Given the description of an element on the screen output the (x, y) to click on. 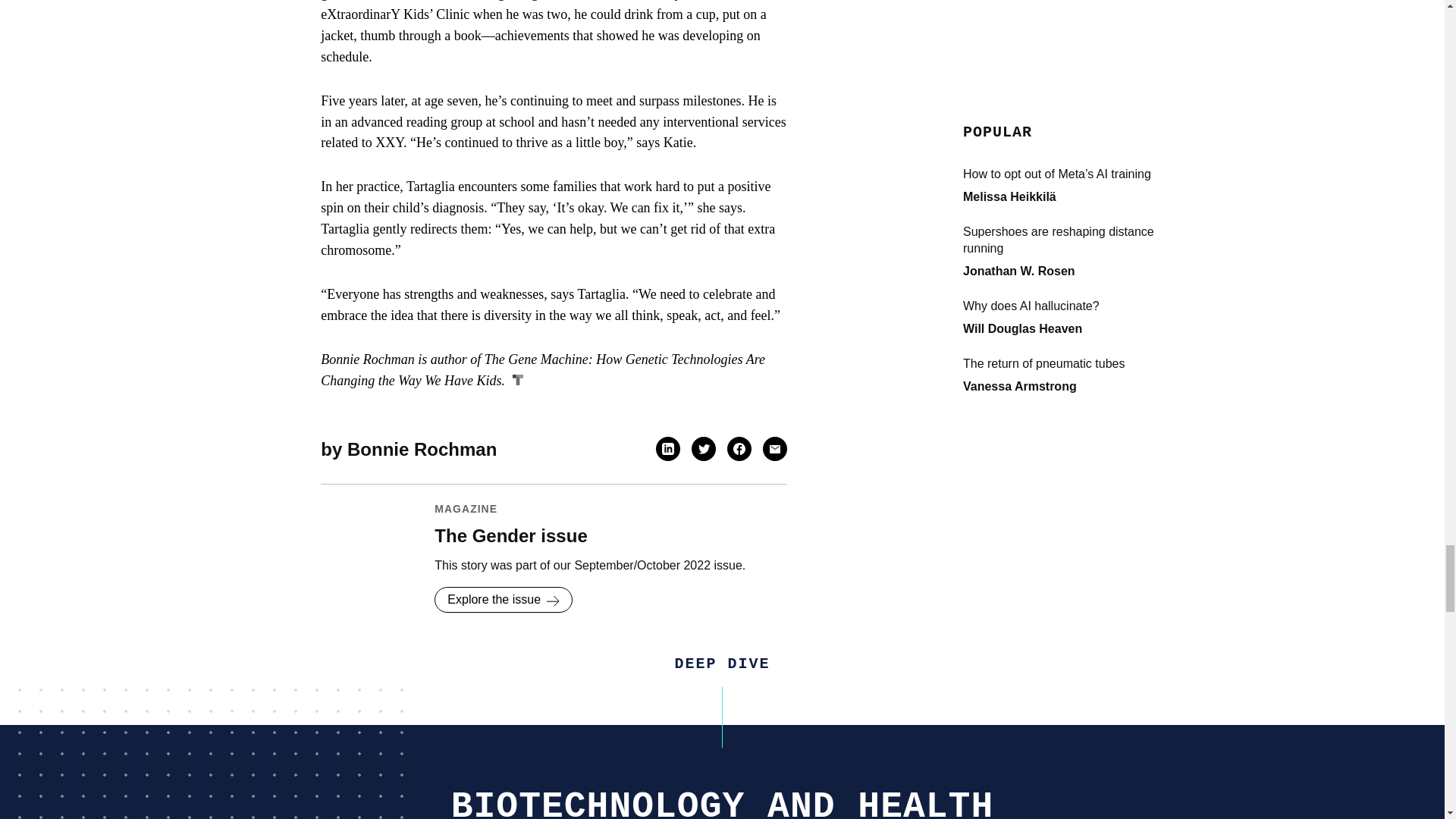
Share story on twitter (703, 448)
Explore the issue (502, 599)
Share story on linkedin (668, 449)
Share story on email (774, 449)
Bonnie Rochman (421, 448)
Share story on facebook (739, 449)
